Given the description of an element on the screen output the (x, y) to click on. 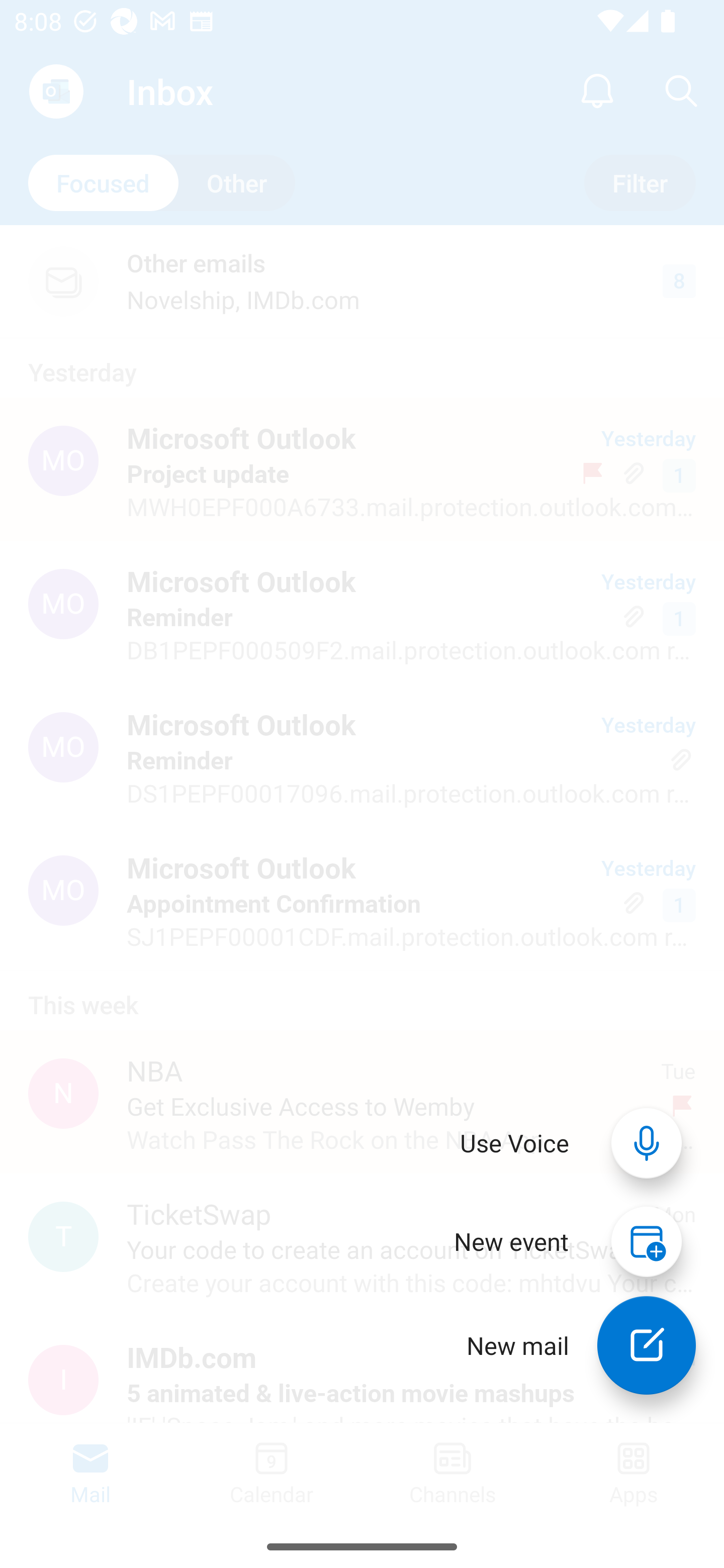
Use Voice (514, 1142)
New event (511, 1241)
New mail New mail New mail (566, 1344)
New mail (646, 1344)
